Given the description of an element on the screen output the (x, y) to click on. 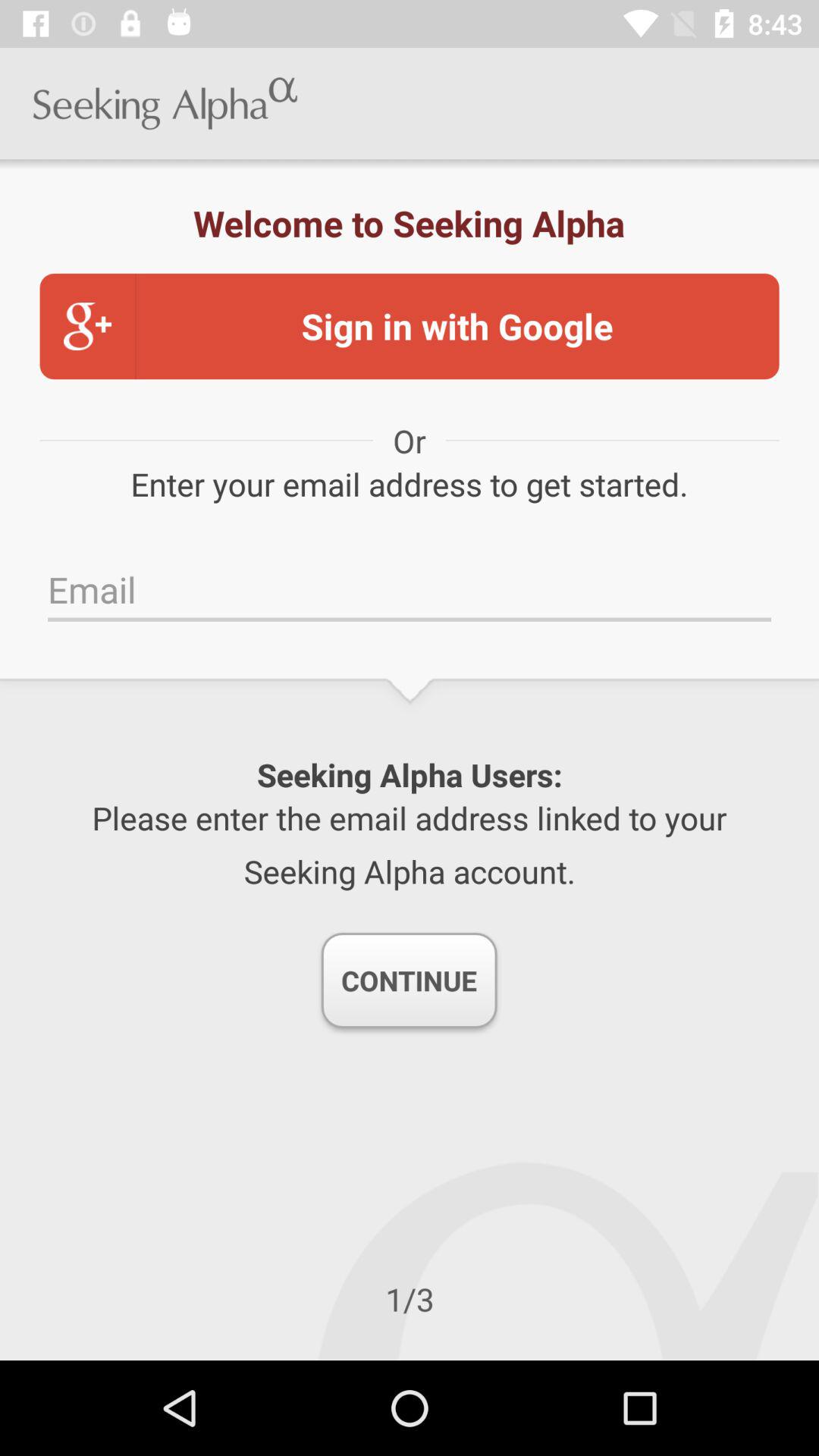
select the icon below the enter your email (409, 590)
